Given the description of an element on the screen output the (x, y) to click on. 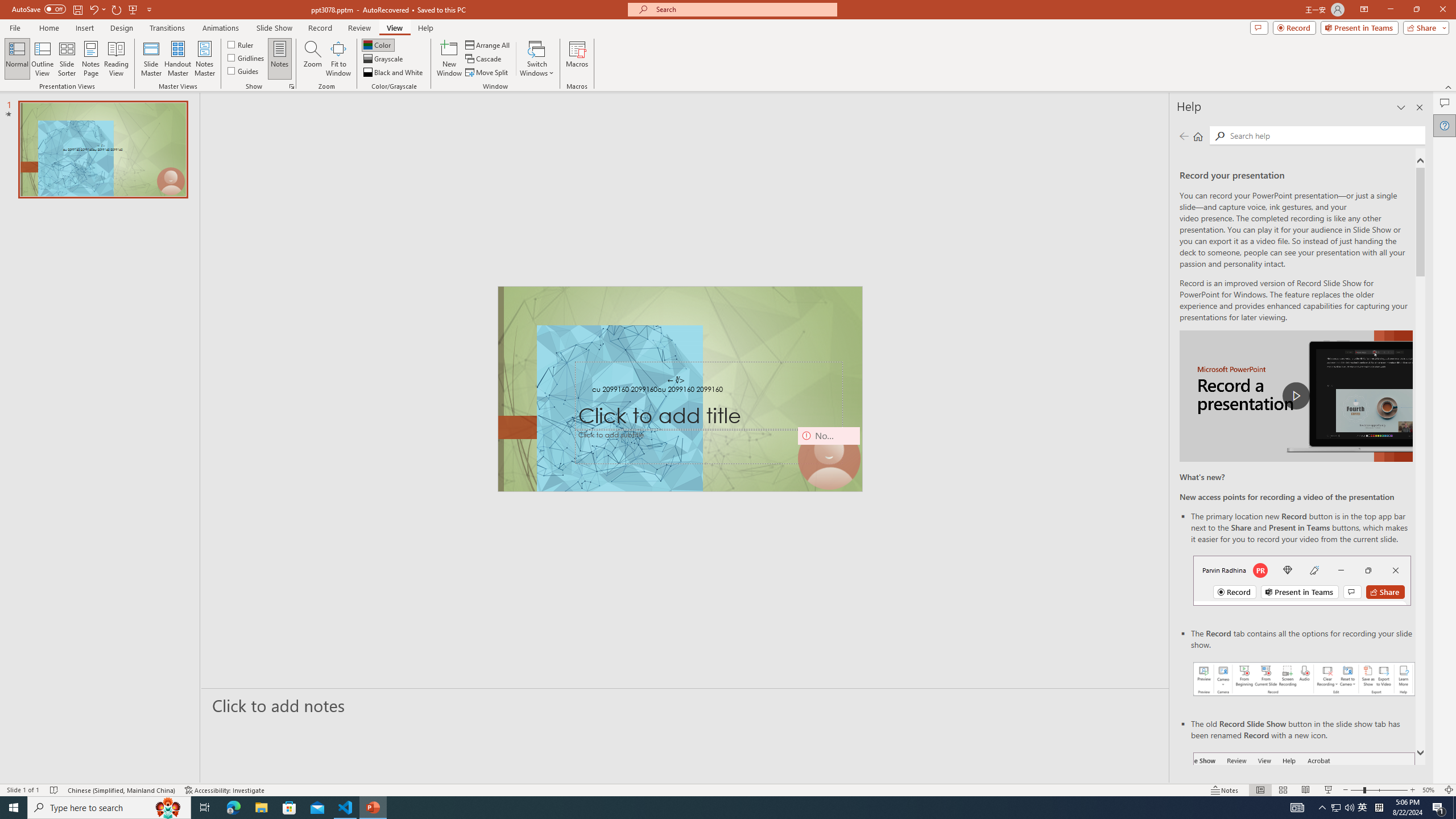
Grid Settings... (291, 85)
